Given the description of an element on the screen output the (x, y) to click on. 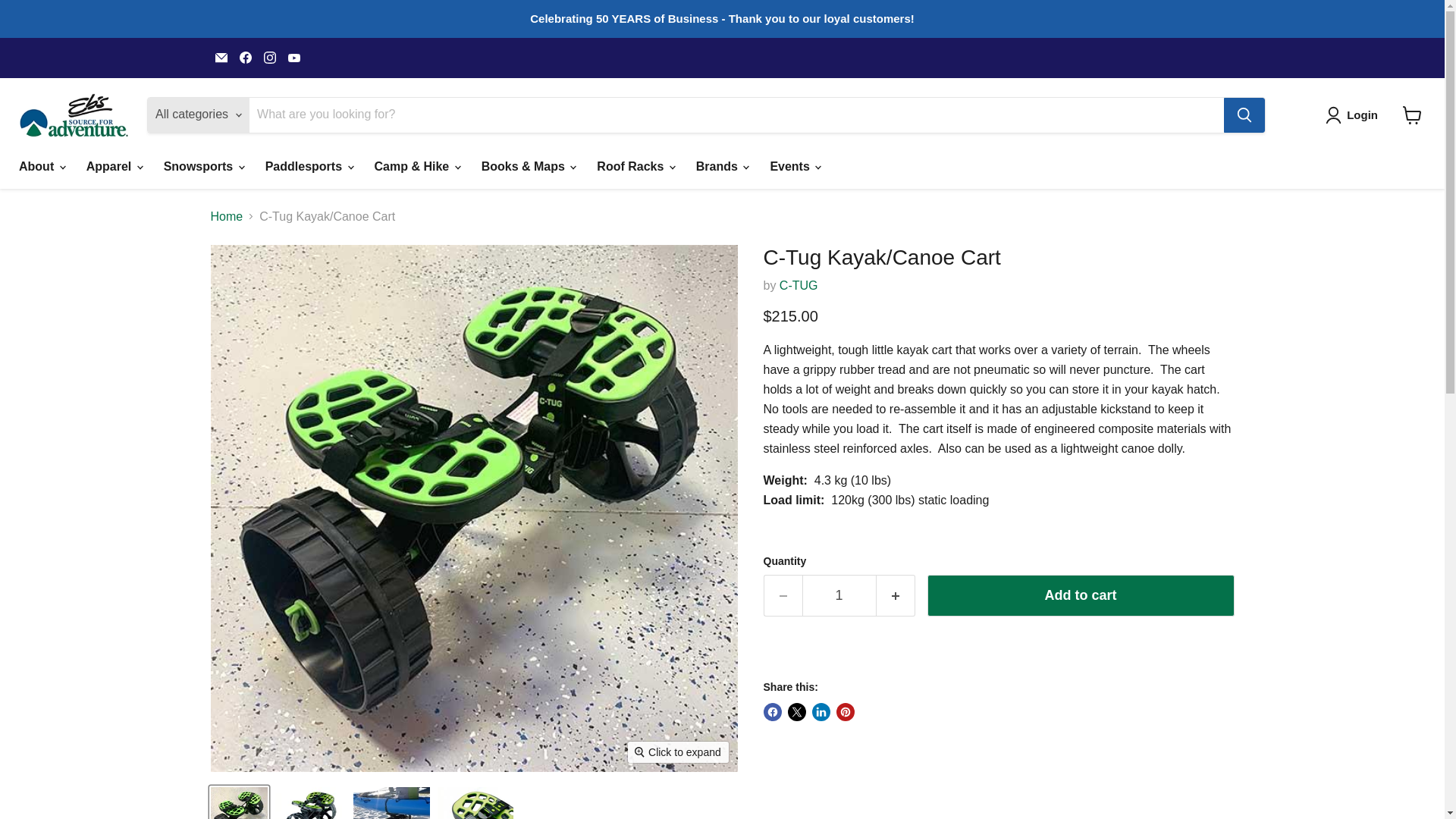
Login (1354, 115)
Find us on Instagram (270, 56)
Email ebsadventure (221, 56)
1 (839, 595)
Email (221, 56)
Instagram (270, 56)
Find us on Facebook (245, 56)
C-TUG (798, 285)
Facebook (245, 56)
View cart (1411, 114)
